Given the description of an element on the screen output the (x, y) to click on. 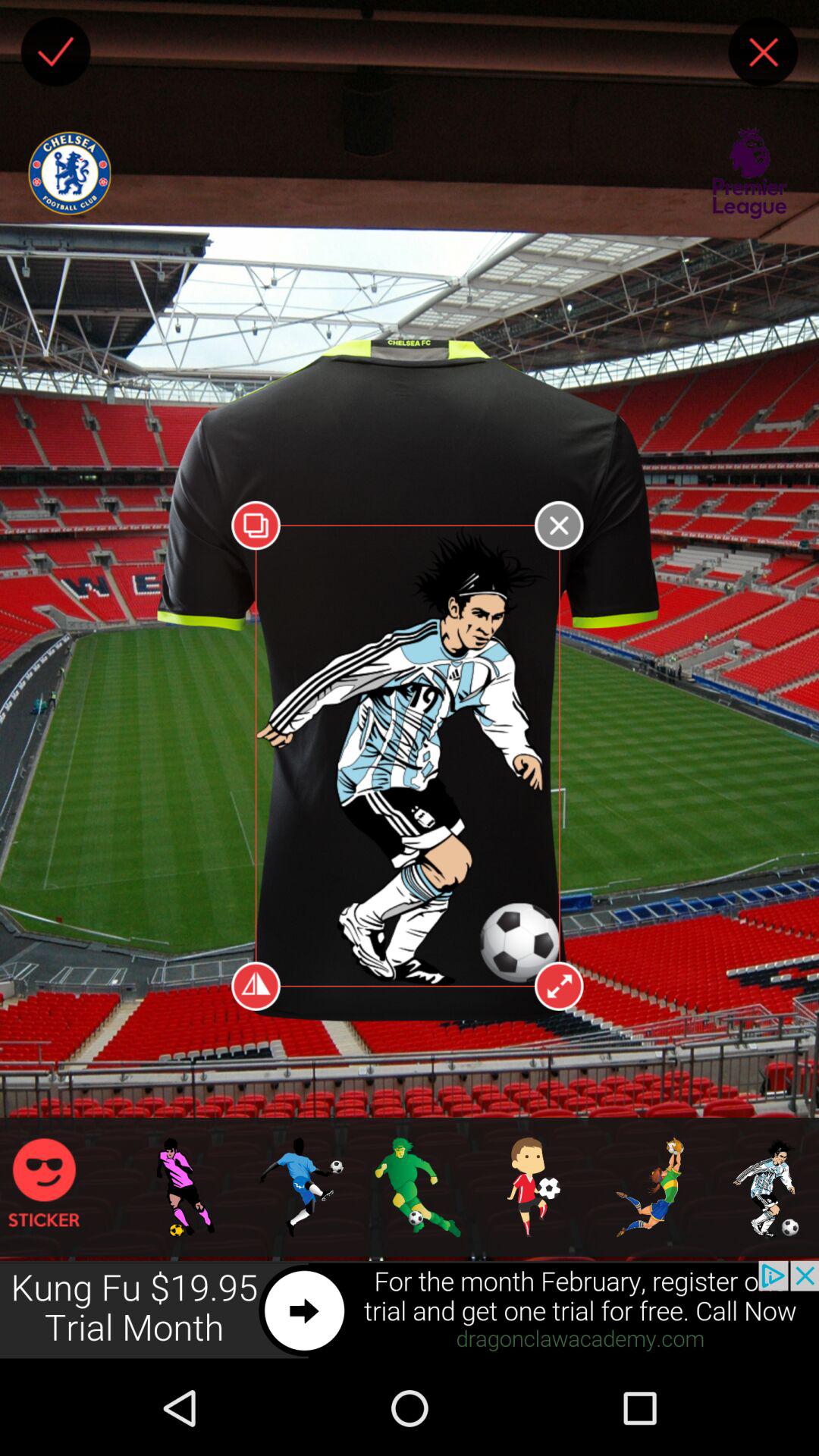
finished (55, 51)
